Given the description of an element on the screen output the (x, y) to click on. 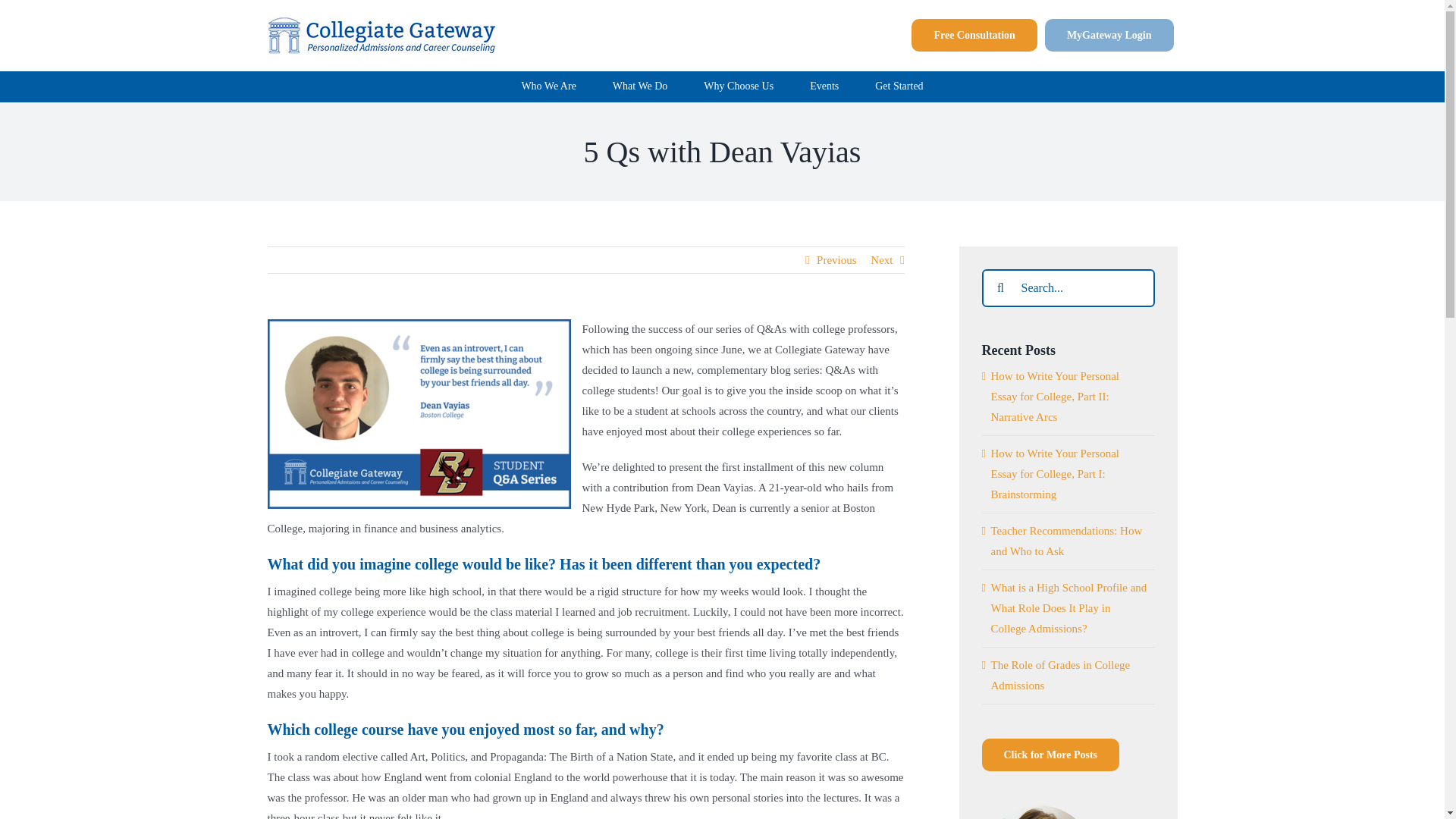
Previous (836, 259)
Get Started (899, 86)
MyGateway Login (1109, 34)
Why Choose Us (738, 86)
Free Consultation (973, 34)
What We Do (639, 86)
Events (823, 86)
Who We Are (548, 86)
